Given the description of an element on the screen output the (x, y) to click on. 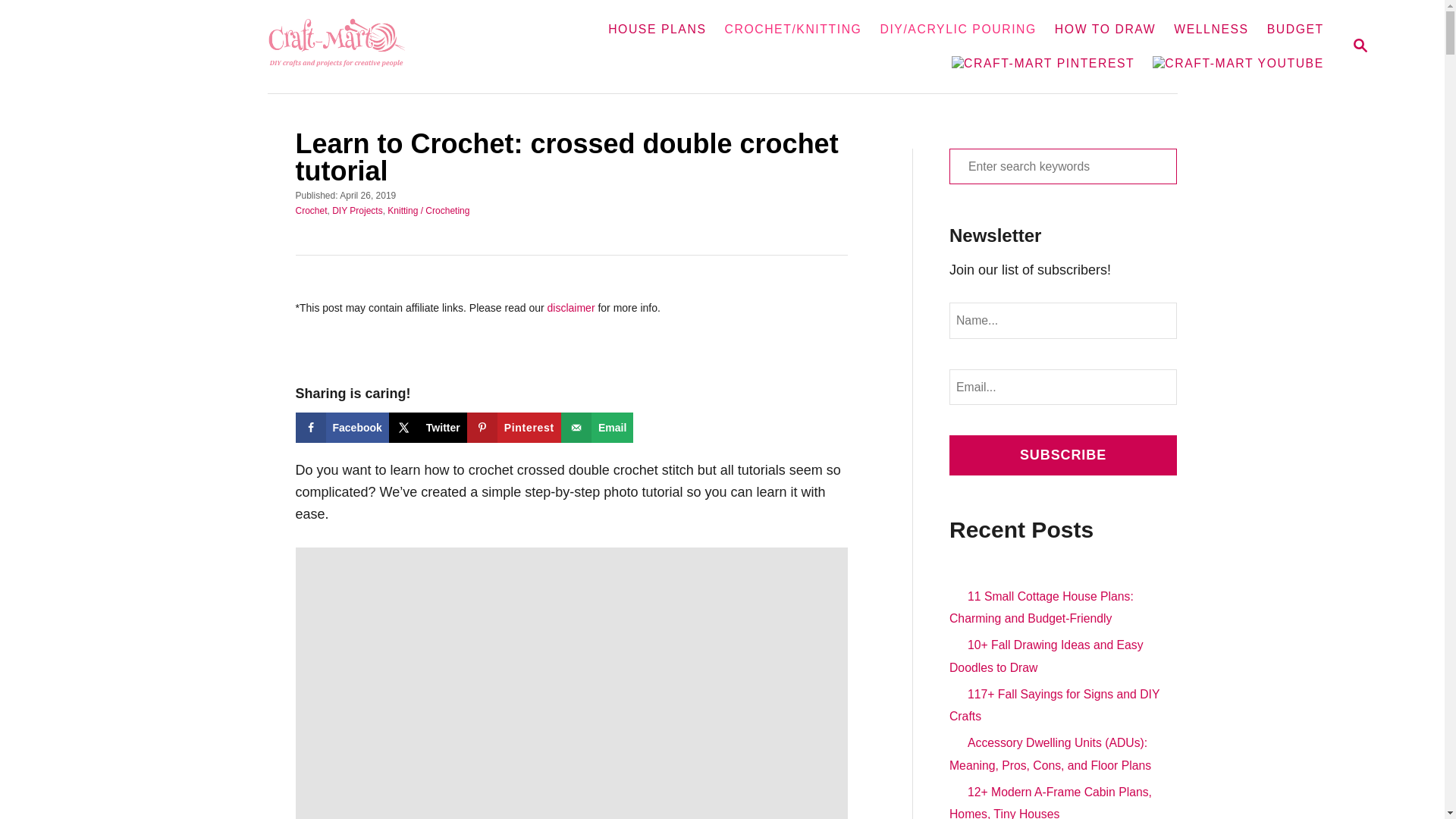
Facebook (341, 427)
Share on X (427, 427)
Save to Pinterest (513, 427)
Subscribe (1062, 454)
Crochet (311, 209)
HOUSE PLANS (656, 29)
Share on Facebook (341, 427)
Send over email (596, 427)
Craft-Mart (344, 46)
HOW TO DRAW (1104, 29)
